Given the description of an element on the screen output the (x, y) to click on. 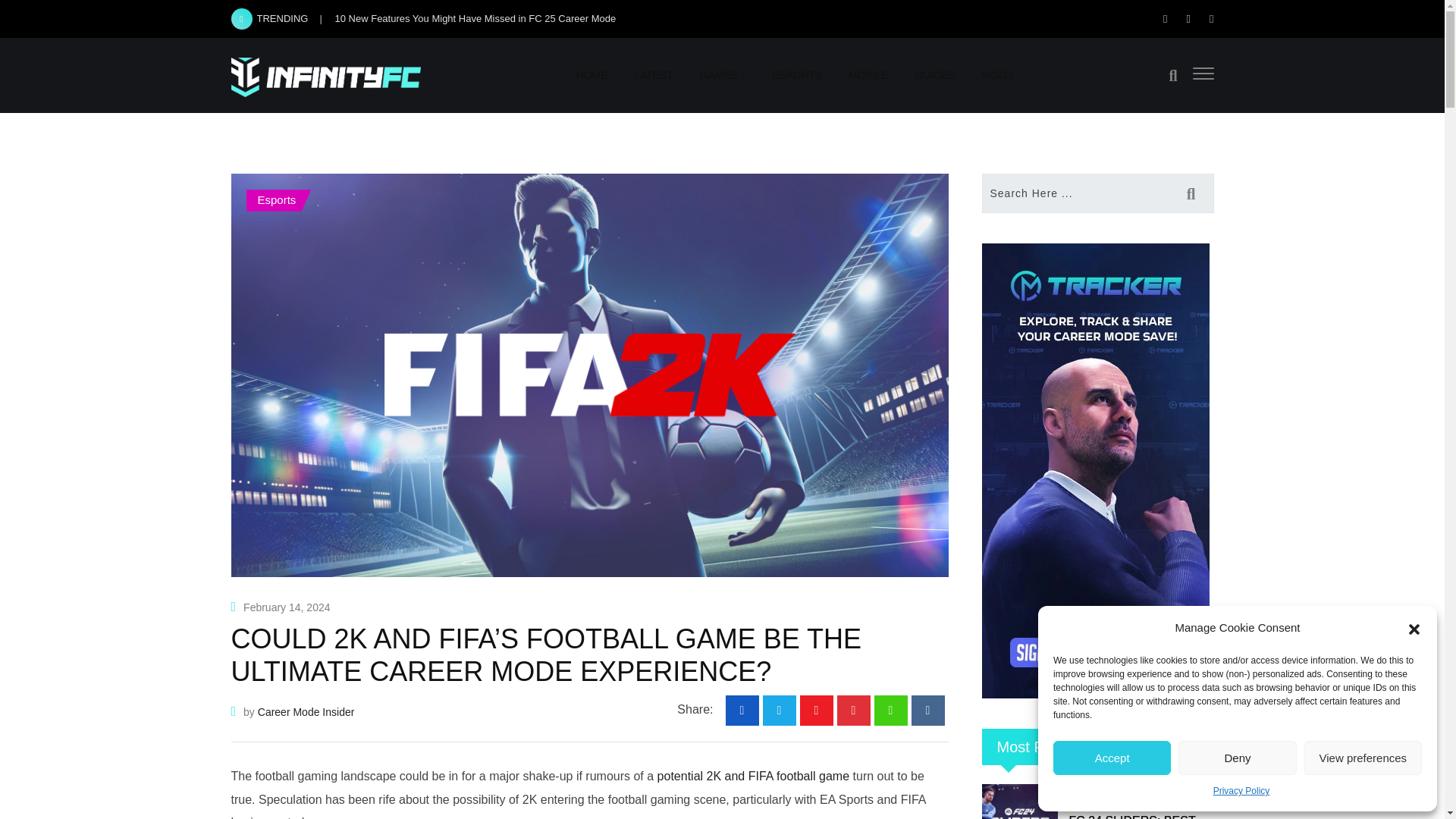
View preferences (1363, 757)
ESPORTS (797, 74)
Privacy Policy (1240, 791)
GAMES (722, 75)
10 New Features You Might Have Missed in FC 25 Career Mode (474, 18)
Accept (1111, 757)
Posts by Career Mode Insider (306, 711)
Deny (1236, 757)
